Given the description of an element on the screen output the (x, y) to click on. 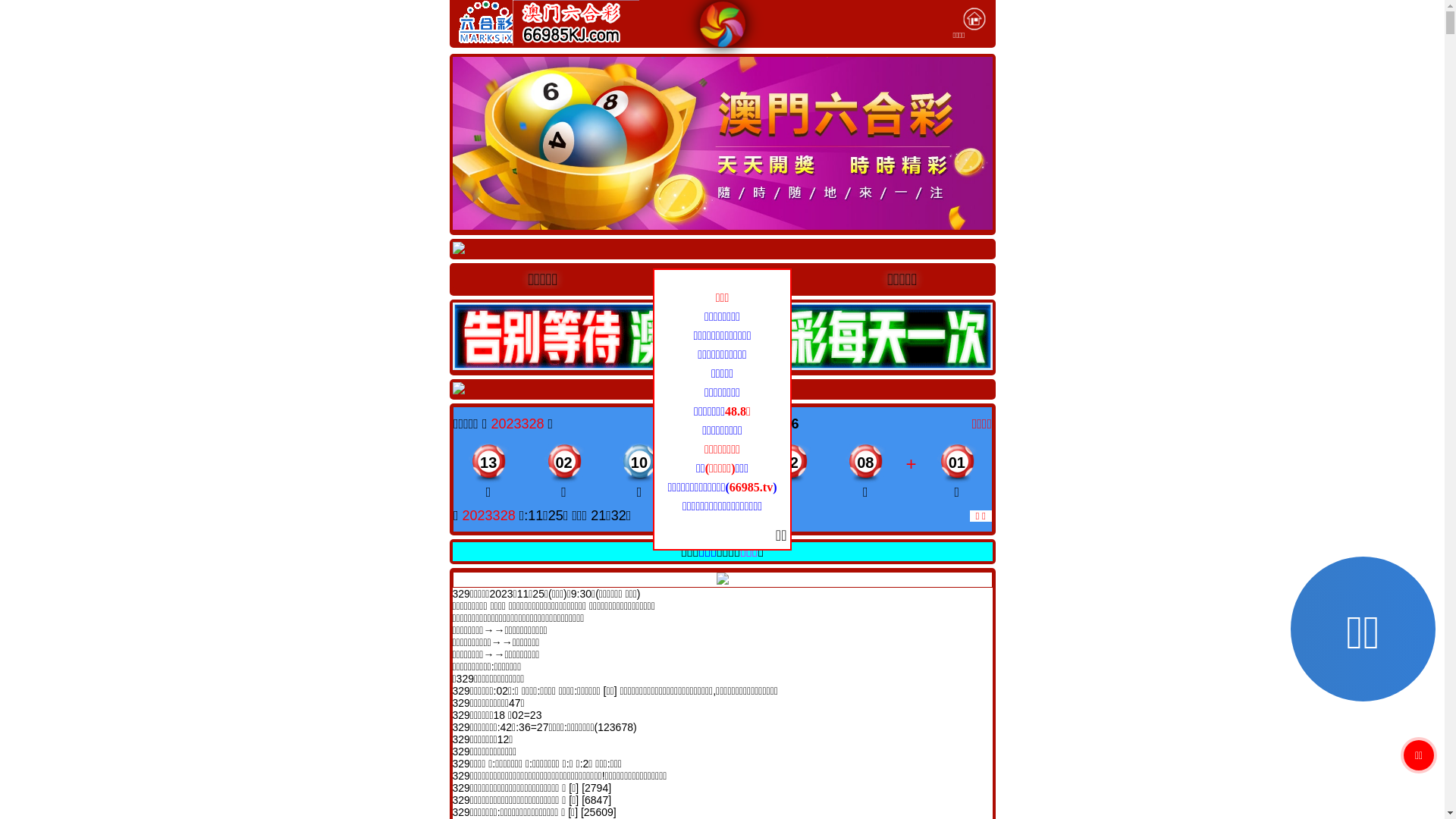
yhgj663.com Element type: text (720, 278)
